Given the description of an element on the screen output the (x, y) to click on. 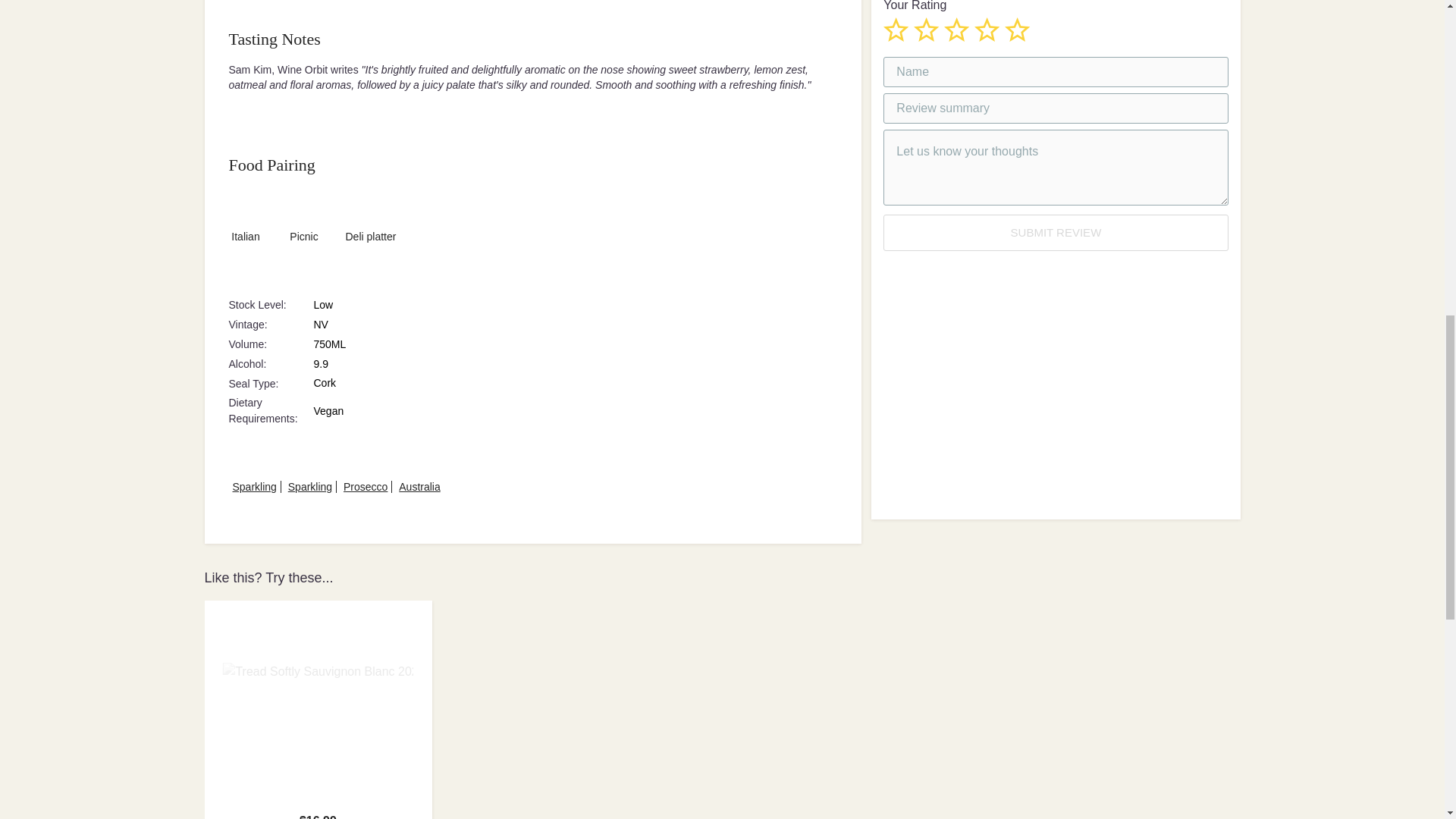
Deli platter (370, 205)
Picnic (303, 205)
Italian (245, 205)
